Given the description of an element on the screen output the (x, y) to click on. 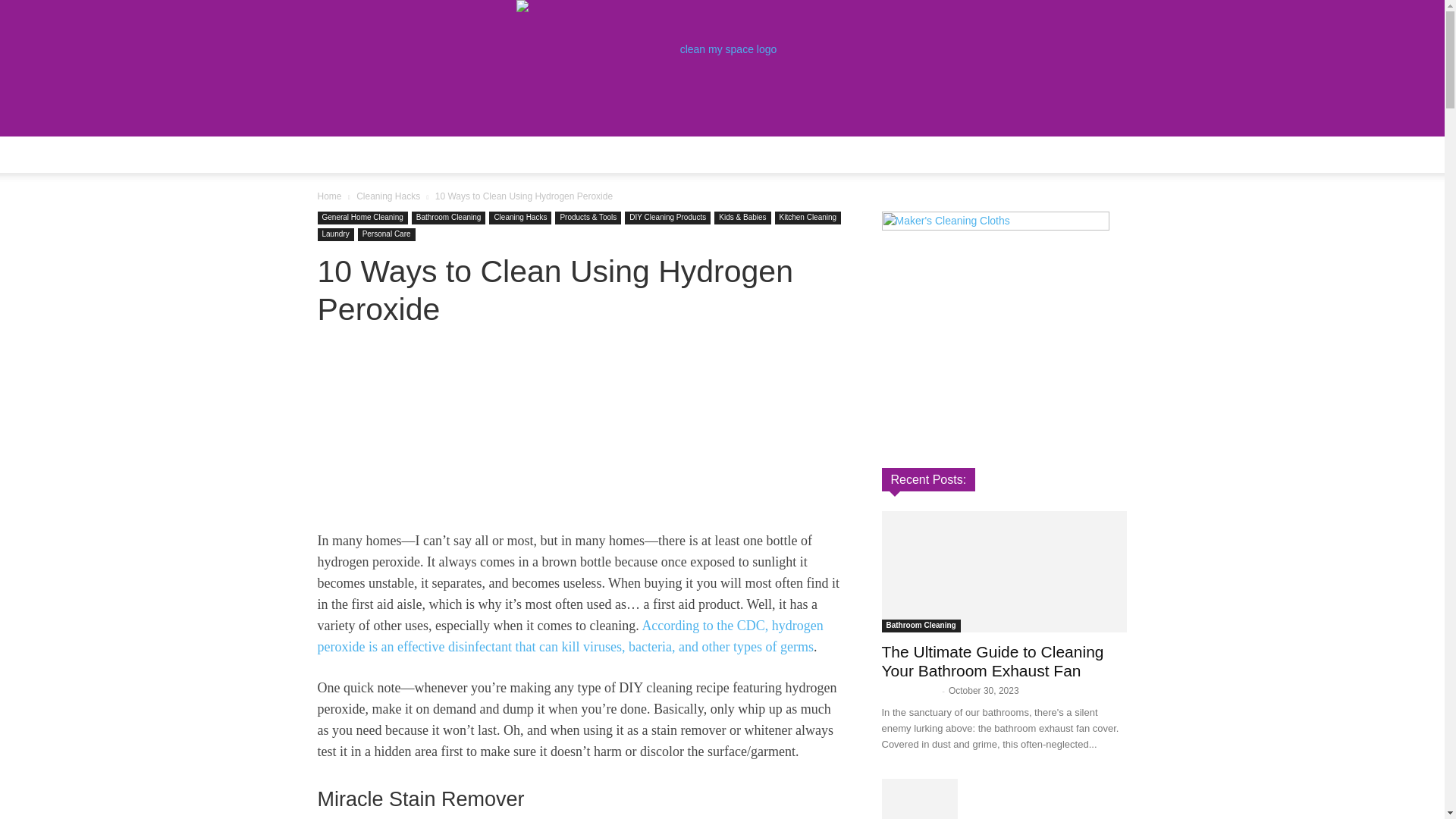
Clean My Space (721, 68)
View all posts in Cleaning Hacks (388, 195)
My Basket (967, 154)
